Given the description of an element on the screen output the (x, y) to click on. 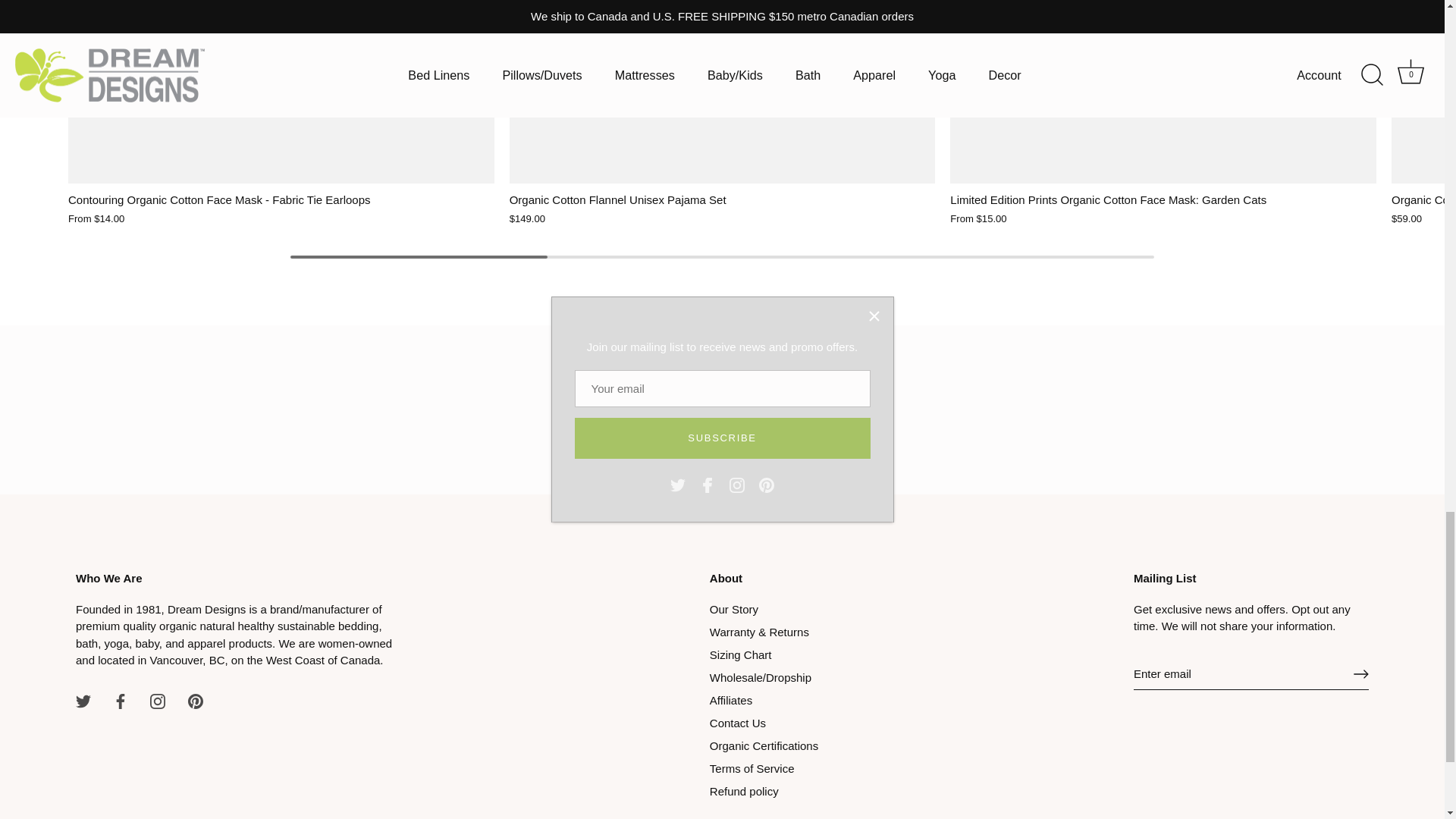
Pinterest (195, 701)
Twitter (82, 701)
RIGHT ARROW LONG (1361, 673)
Instagram (157, 701)
